Given the description of an element on the screen output the (x, y) to click on. 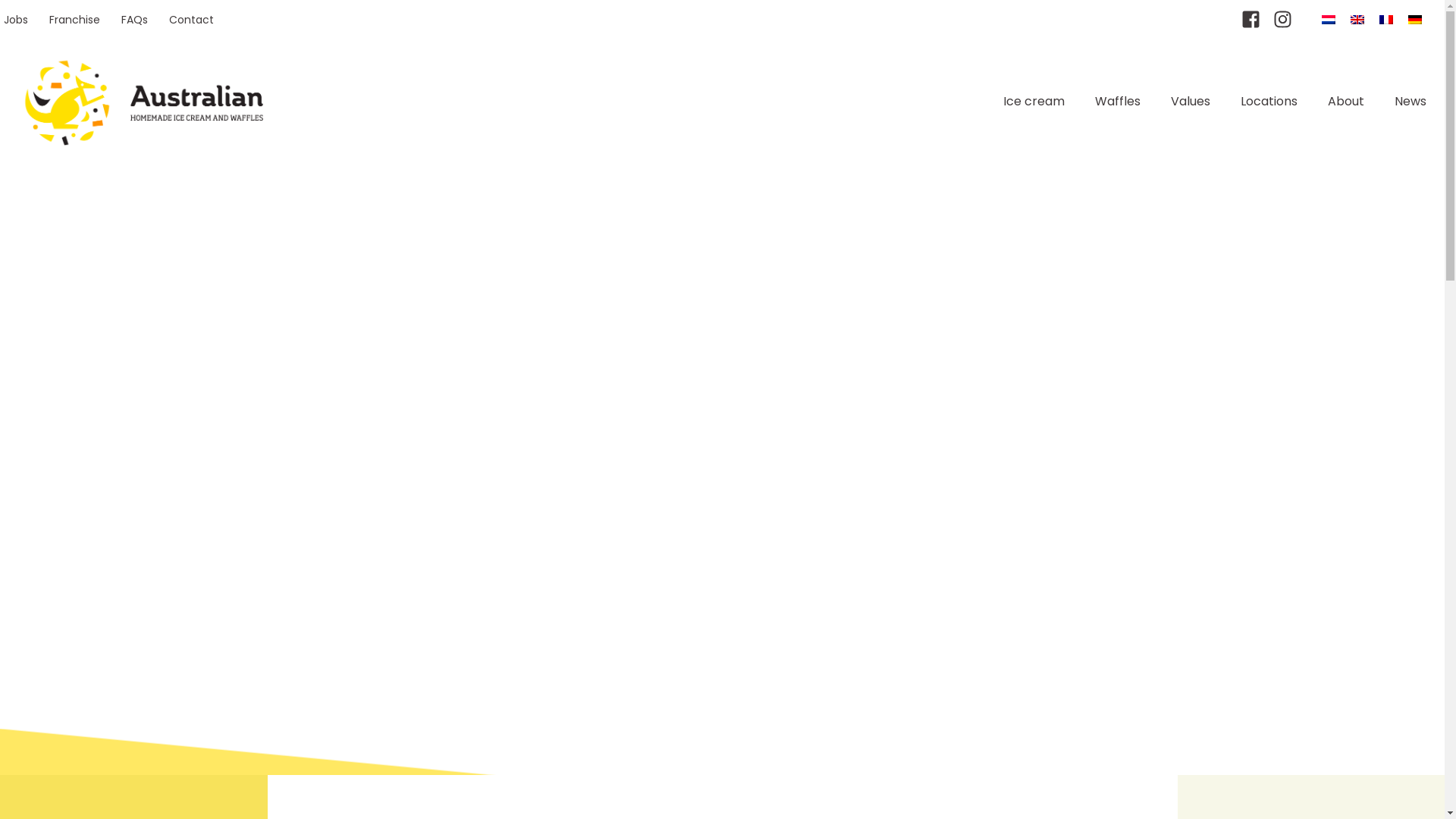
Values Element type: text (1190, 101)
About Element type: text (1345, 101)
Contact Element type: text (191, 19)
News Element type: text (1410, 101)
Jobs Element type: text (20, 19)
Ice cream Element type: text (1033, 101)
Locations Element type: text (1268, 101)
Waffles Element type: text (1117, 101)
FAQs Element type: text (134, 19)
Franchise Element type: text (74, 19)
